Given the description of an element on the screen output the (x, y) to click on. 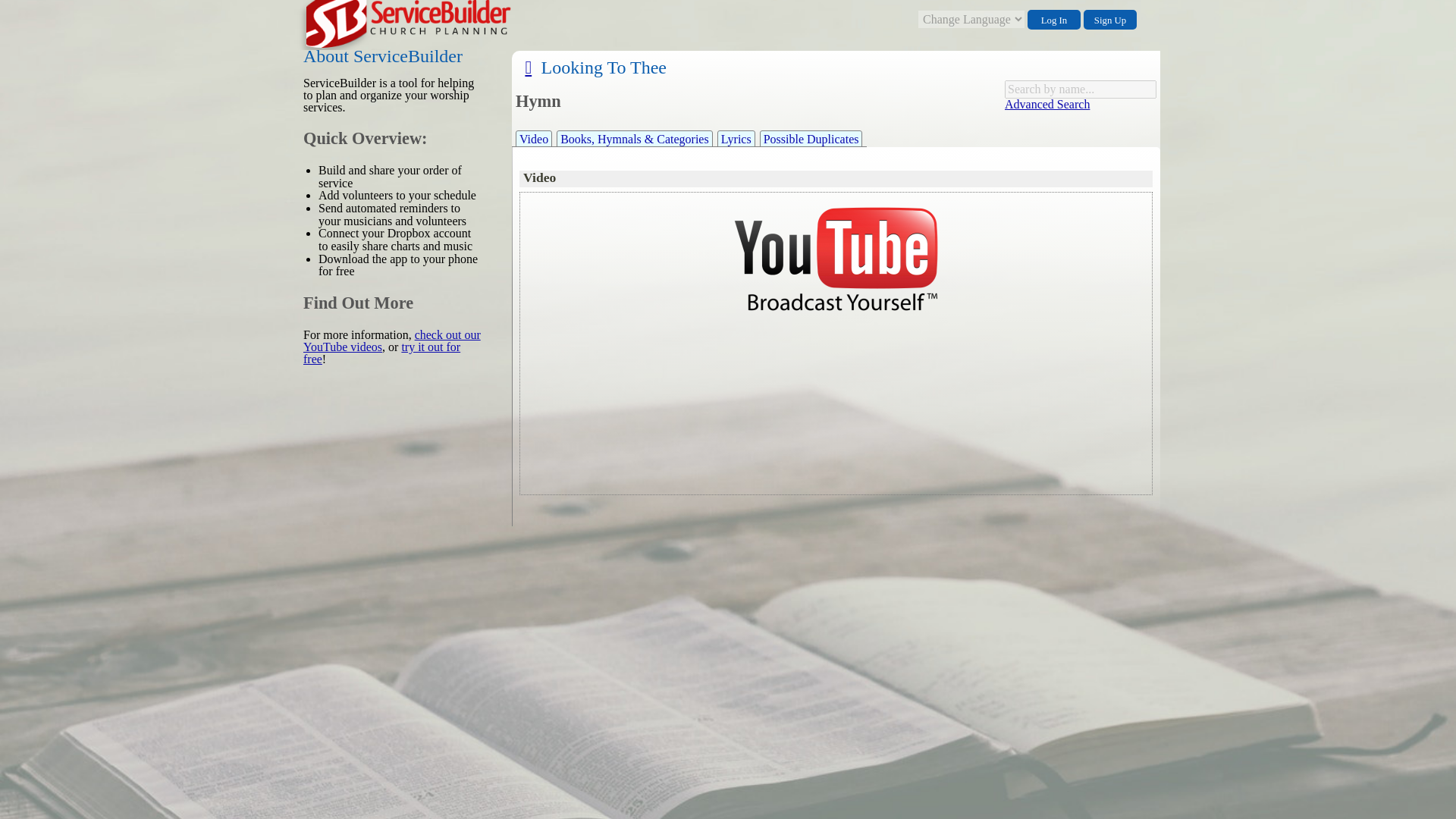
Log In (1053, 19)
Advanced Search (1046, 103)
Log In (1053, 19)
Lyrics (736, 138)
Sign Up (1110, 19)
Video (533, 138)
try it out for free (381, 352)
check out our YouTube videos (391, 340)
Possible Duplicates (811, 138)
